Given the description of an element on the screen output the (x, y) to click on. 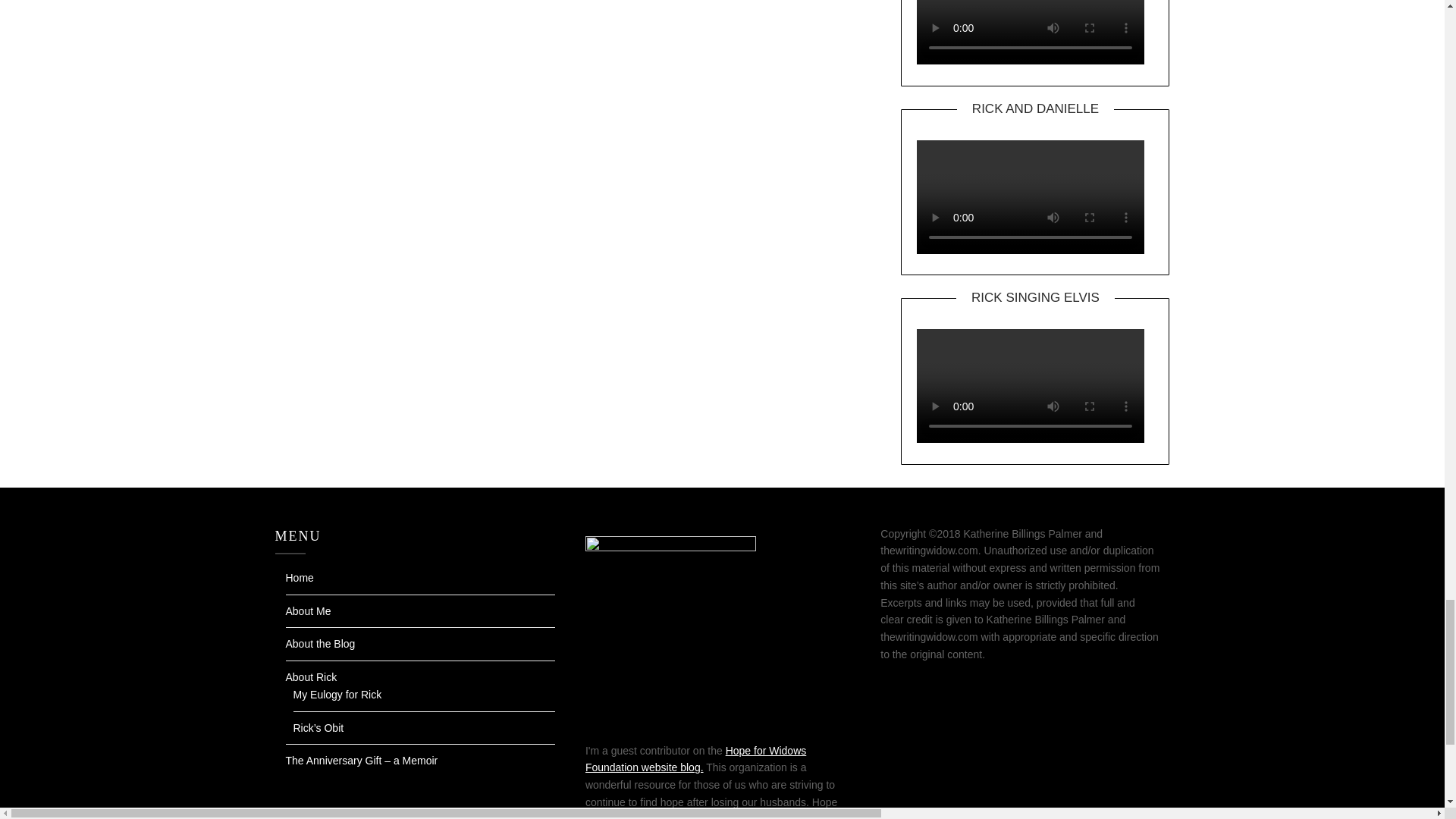
Home (299, 577)
About Me (307, 611)
About the Blog (320, 644)
My Eulogy for Rick (336, 694)
About Rick (310, 676)
